Given the description of an element on the screen output the (x, y) to click on. 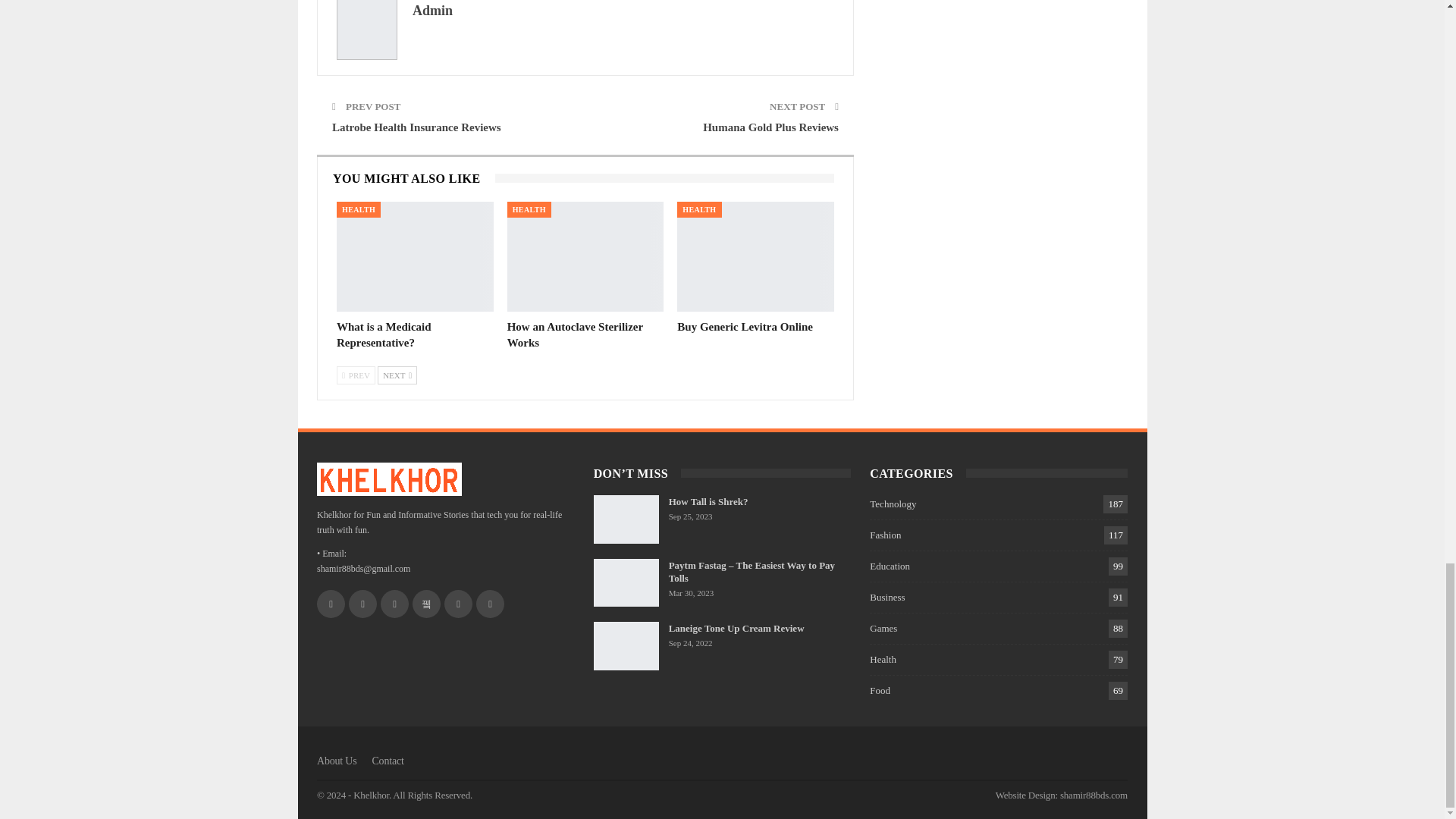
Previous (355, 375)
What is a Medicaid Representative? (414, 256)
Buy Generic Levitra Online (755, 256)
Buy Generic Levitra Online (744, 326)
Next (396, 375)
How an Autoclave Sterilizer Works (574, 334)
What is a Medicaid Representative? (383, 334)
How an Autoclave Sterilizer Works (584, 256)
